Given the description of an element on the screen output the (x, y) to click on. 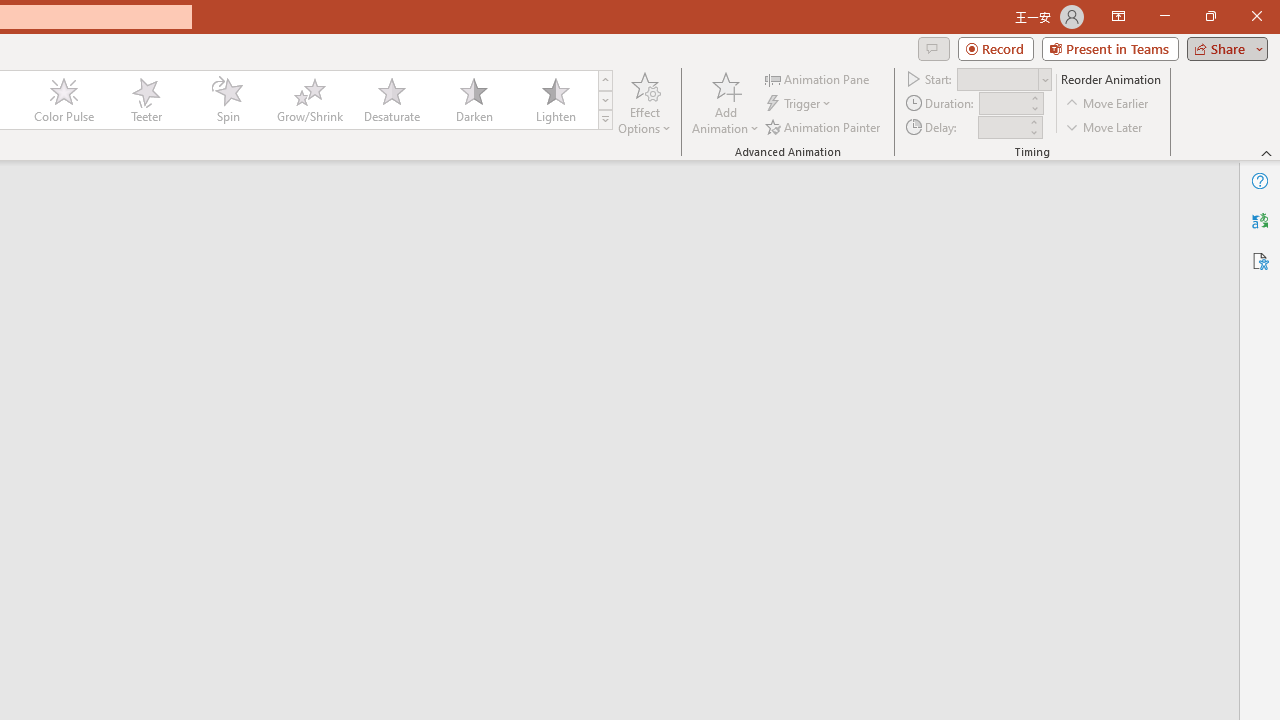
Trigger (799, 103)
Lighten (555, 100)
Animation Pane (818, 78)
Less (1033, 132)
Move Later (1105, 126)
Color Pulse (63, 100)
Animation Painter (824, 126)
